Given the description of an element on the screen output the (x, y) to click on. 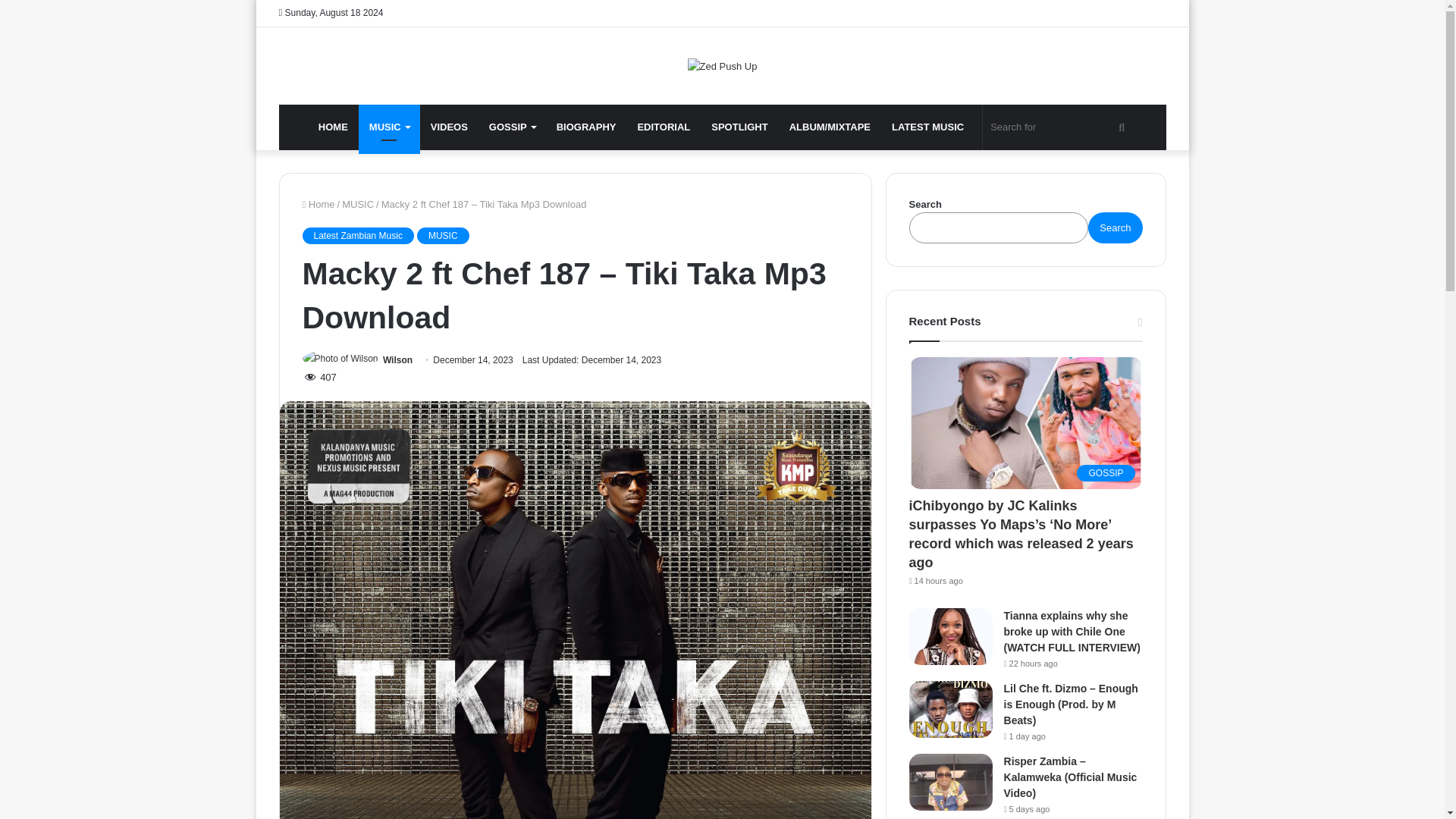
BIOGRAPHY (586, 126)
EDITORIAL (663, 126)
VIDEOS (449, 126)
Zed Push Up (722, 65)
Wilson (397, 359)
Latest Zambian Music (357, 235)
SPOTLIGHT (738, 126)
Search for (1059, 126)
LATEST MUSIC (927, 126)
MUSIC (442, 235)
